Given the description of an element on the screen output the (x, y) to click on. 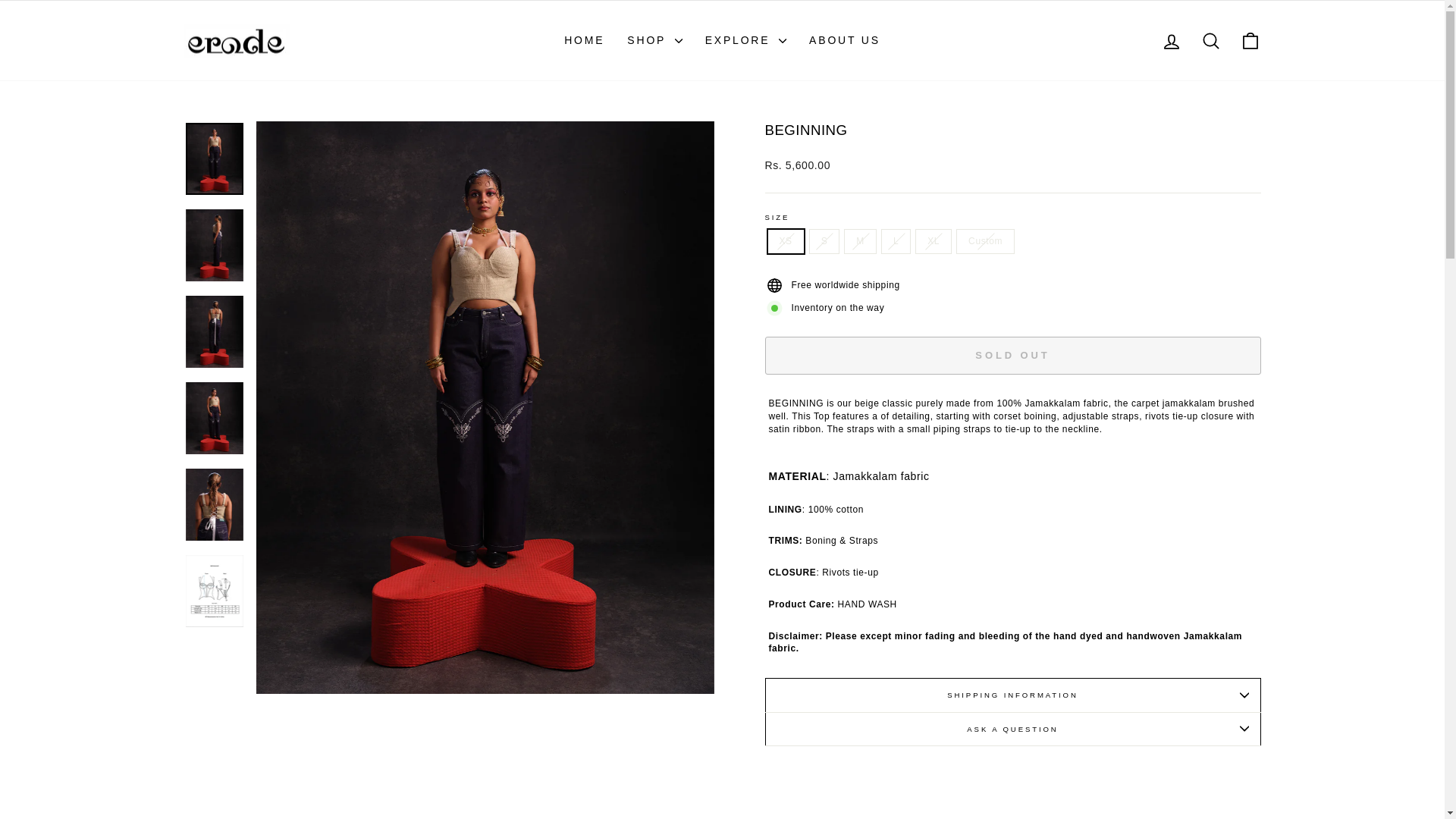
L (1249, 40)
ICON-SEARCH (1210, 40)
ACCOUNT (1210, 40)
HOME (1170, 41)
ICON-BAG-MINIMAL (1171, 40)
Custom (844, 40)
